Given the description of an element on the screen output the (x, y) to click on. 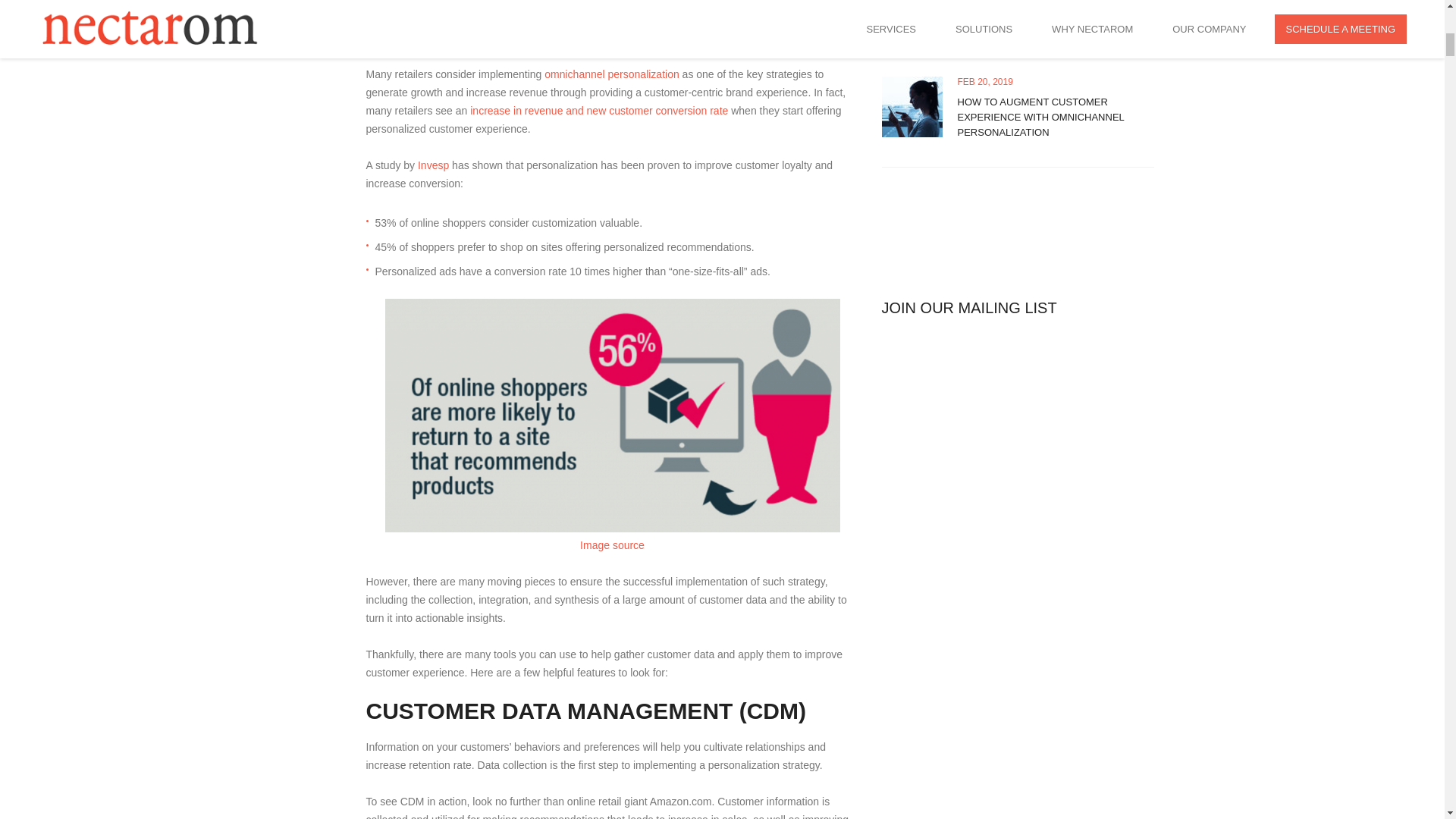
increase in revenue and new customer conversion rate (597, 110)
omnichannel personalization (609, 73)
Image source (612, 544)
Invesp (431, 164)
